Given the description of an element on the screen output the (x, y) to click on. 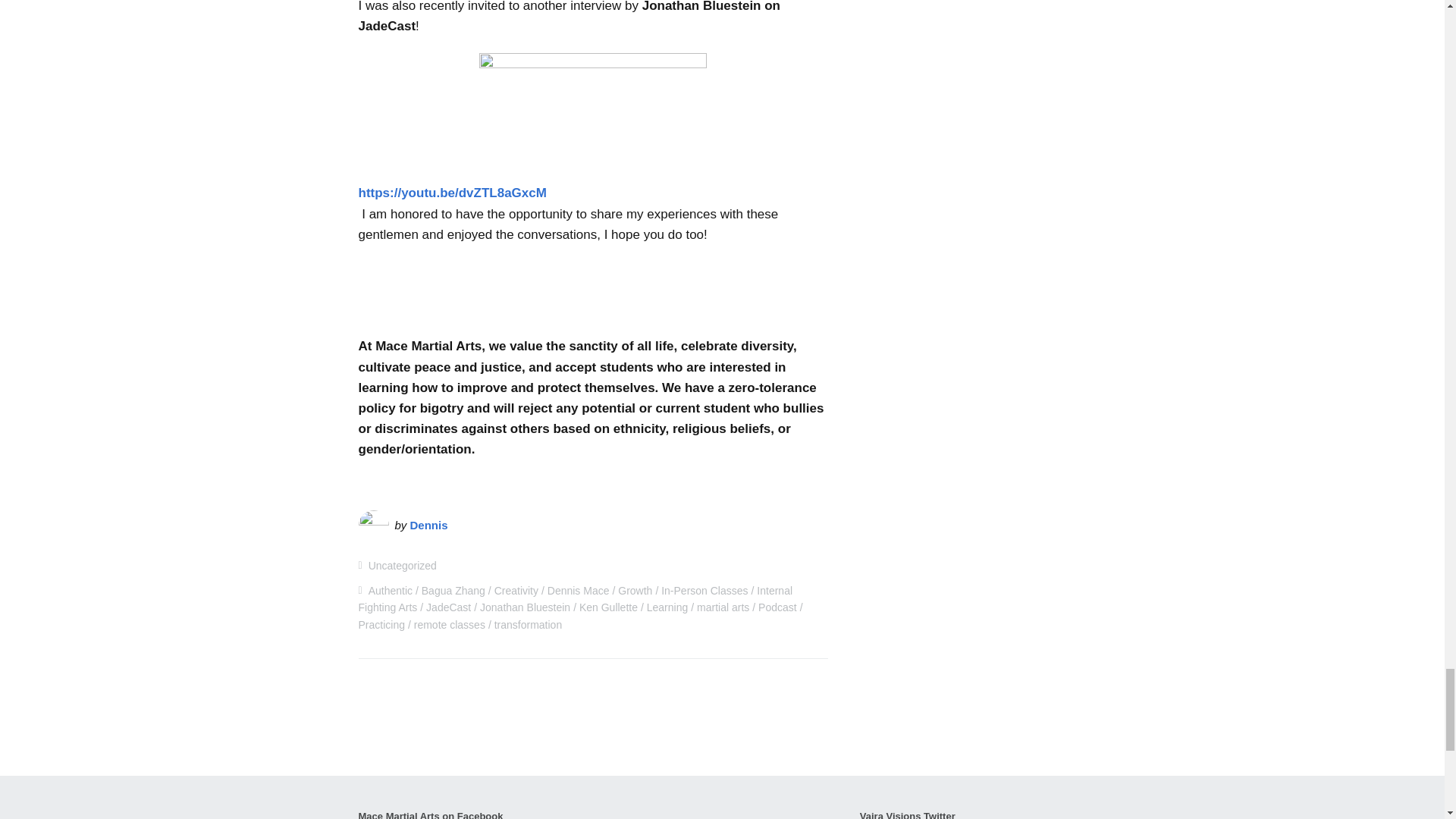
Learning (667, 607)
Growth (634, 590)
Dennis Mace (578, 590)
Creativity (516, 590)
Ken Gullette (608, 607)
Podcast (777, 607)
Jonathan Bluestein (525, 607)
martial arts (723, 607)
In-Person Classes (704, 590)
Internal Fighting Arts (575, 598)
Uncategorized (402, 565)
Authentic (390, 590)
Bagua Zhang (453, 590)
Dennis (429, 524)
JadeCast (448, 607)
